Given the description of an element on the screen output the (x, y) to click on. 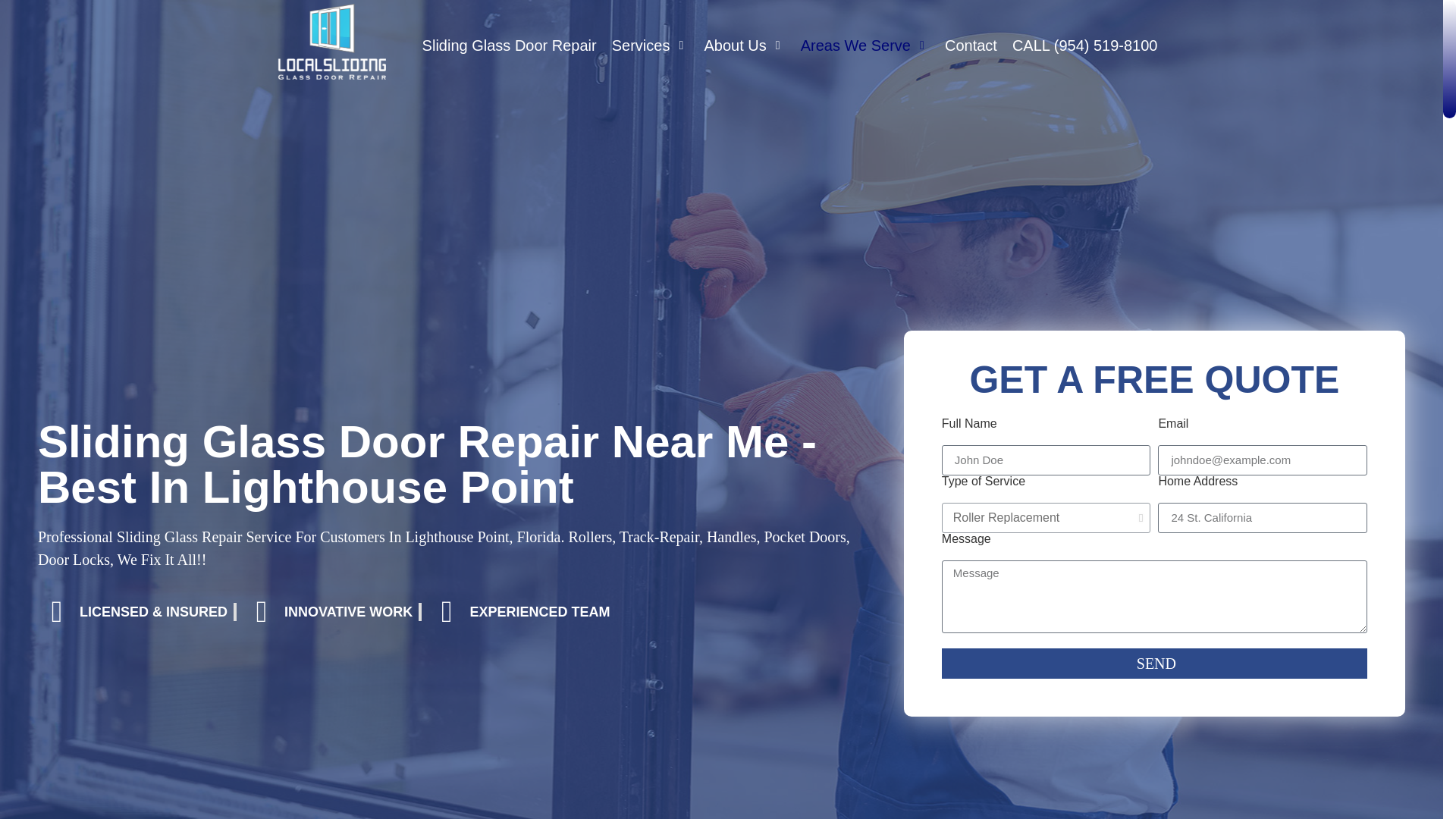
Services (649, 45)
Sliding Glass Door Repair (509, 45)
Contact (970, 45)
Areas We Serve (865, 45)
About Us (743, 45)
